Given the description of an element on the screen output the (x, y) to click on. 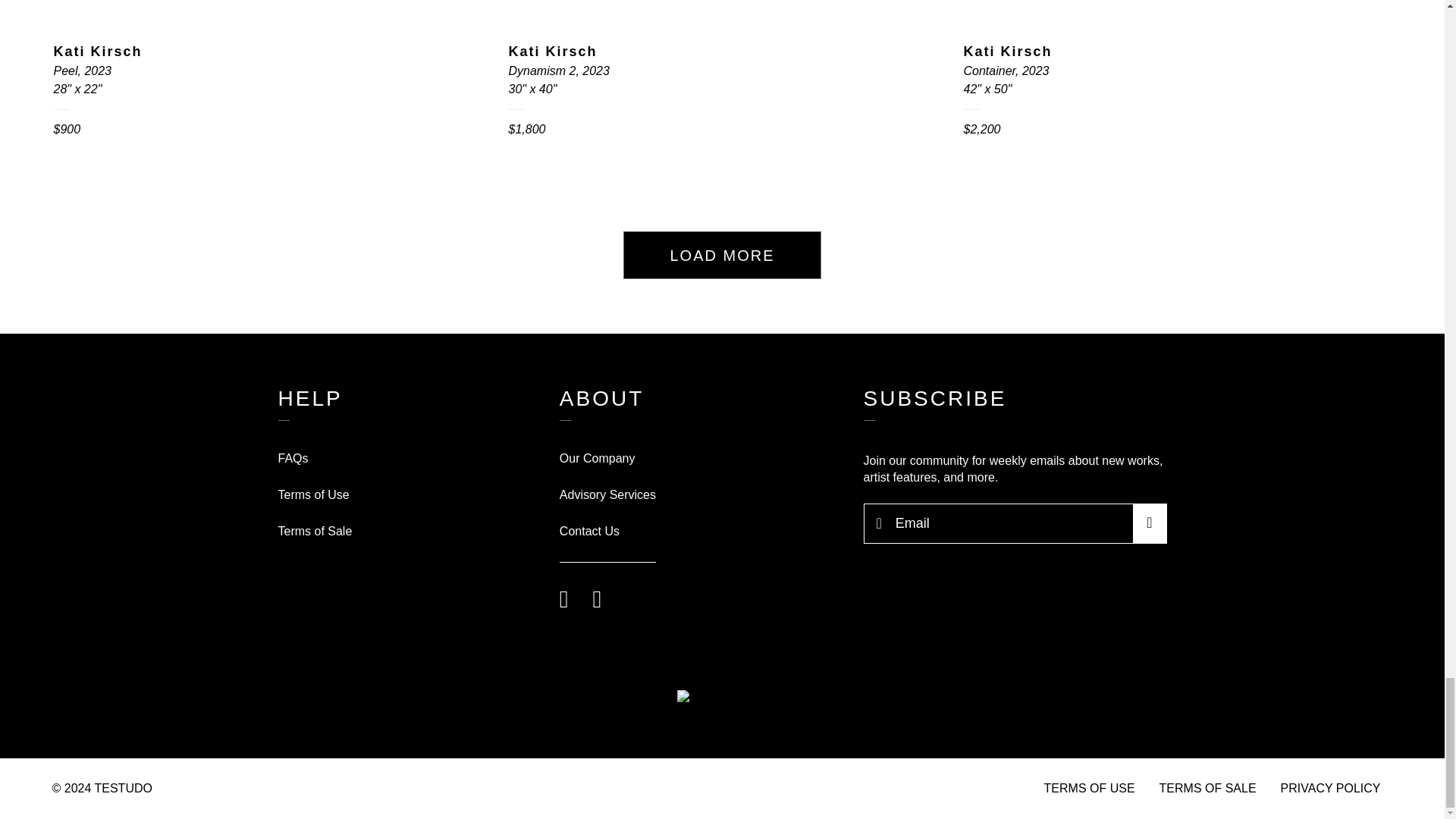
LOAD MORE (722, 254)
FAQs (292, 458)
Terms of Use (313, 494)
